Given the description of an element on the screen output the (x, y) to click on. 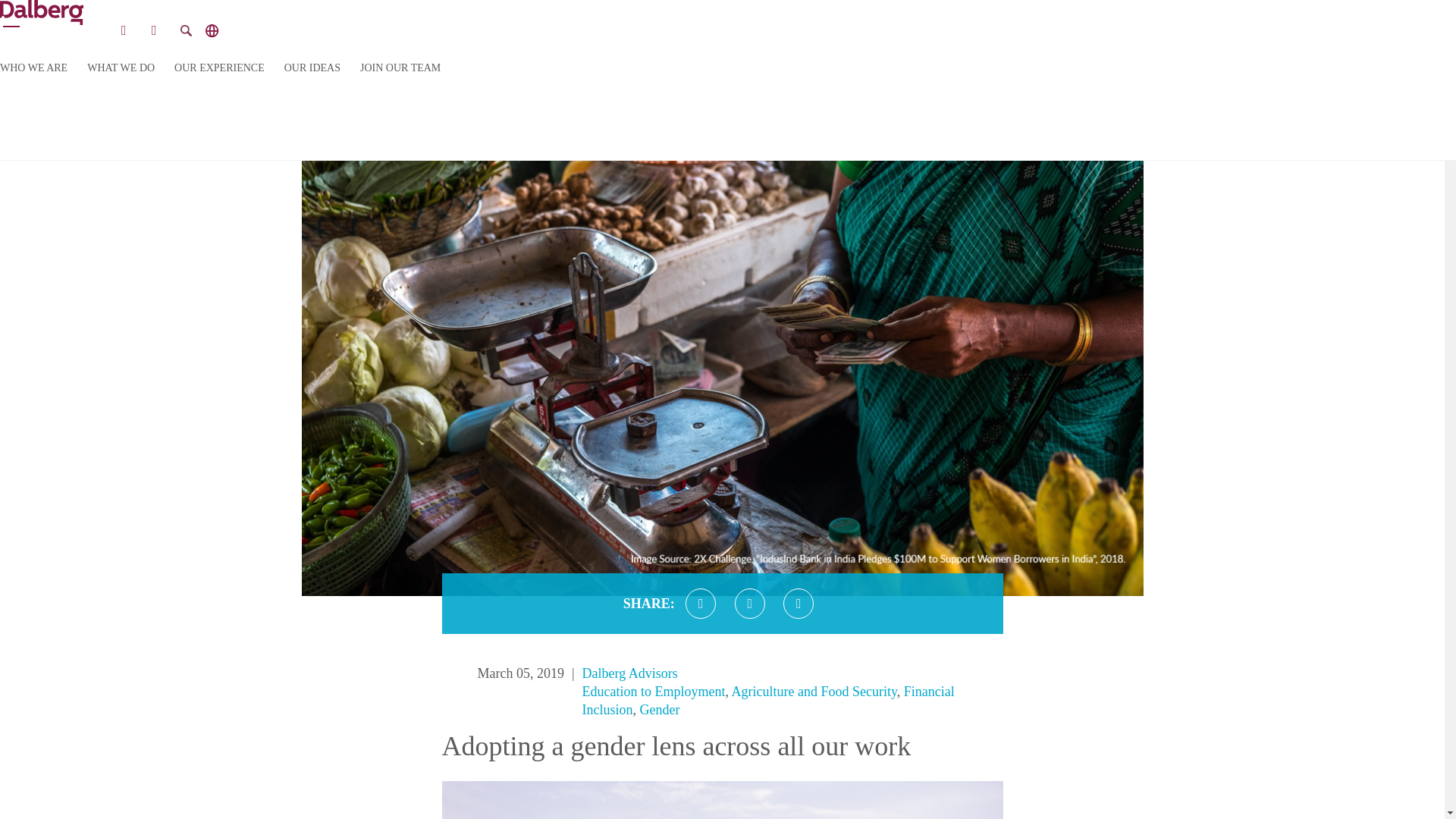
JOIN OUR TEAM (400, 67)
OUR IDEAS (311, 67)
Dalberg Advisors (630, 672)
OUR EXPERIENCE (219, 67)
WHAT WE DO (120, 67)
WHO WE ARE (33, 67)
